Given the description of an element on the screen output the (x, y) to click on. 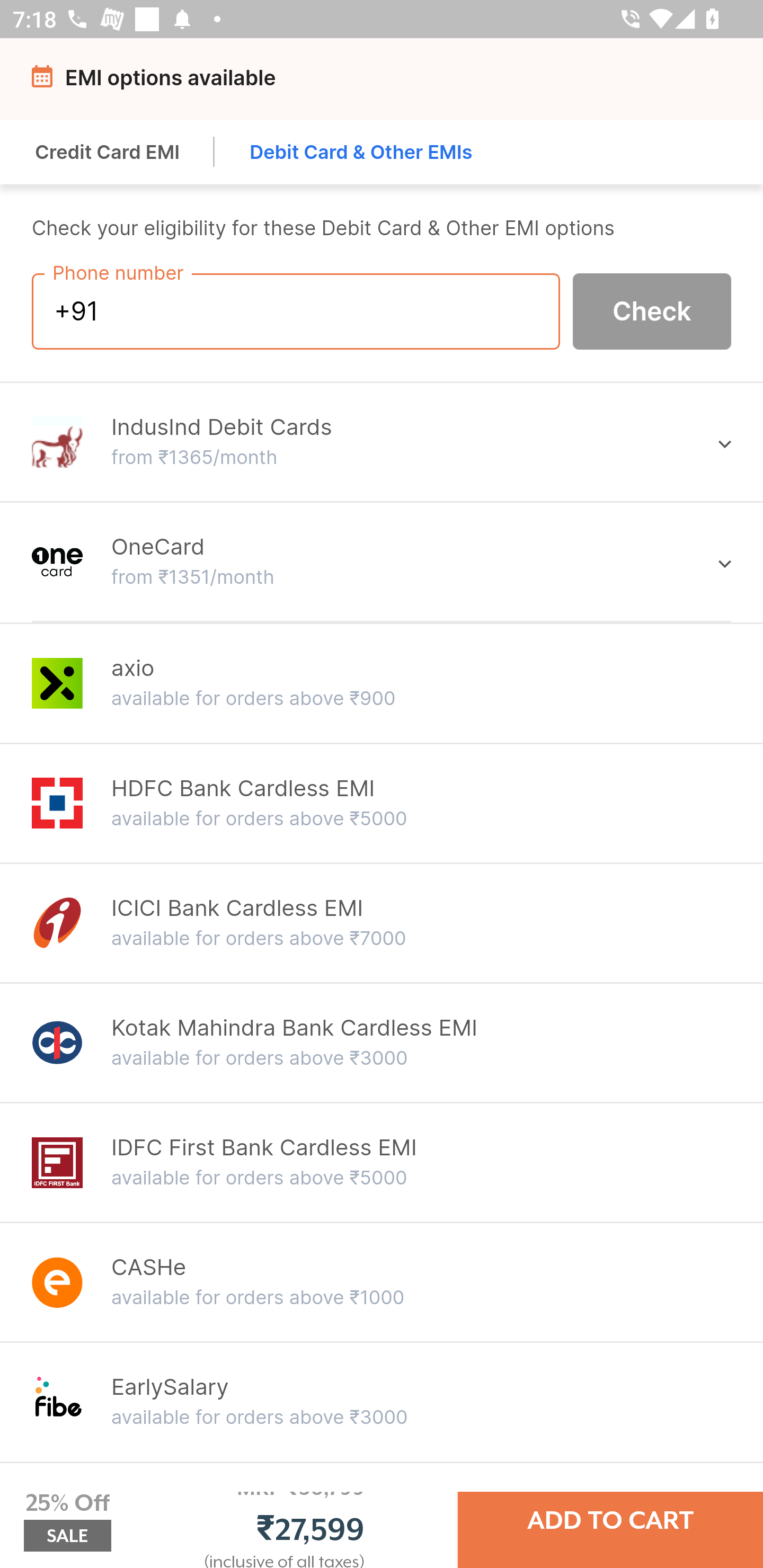
Navigate up (44, 82)
Credit Card EMI (107, 152)
Debit Card & Other EMIs (361, 152)
Check (651, 310)
OneCard OneCard from ₹1351/month (381, 561)
ADD TO CART (610, 1520)
